Given the description of an element on the screen output the (x, y) to click on. 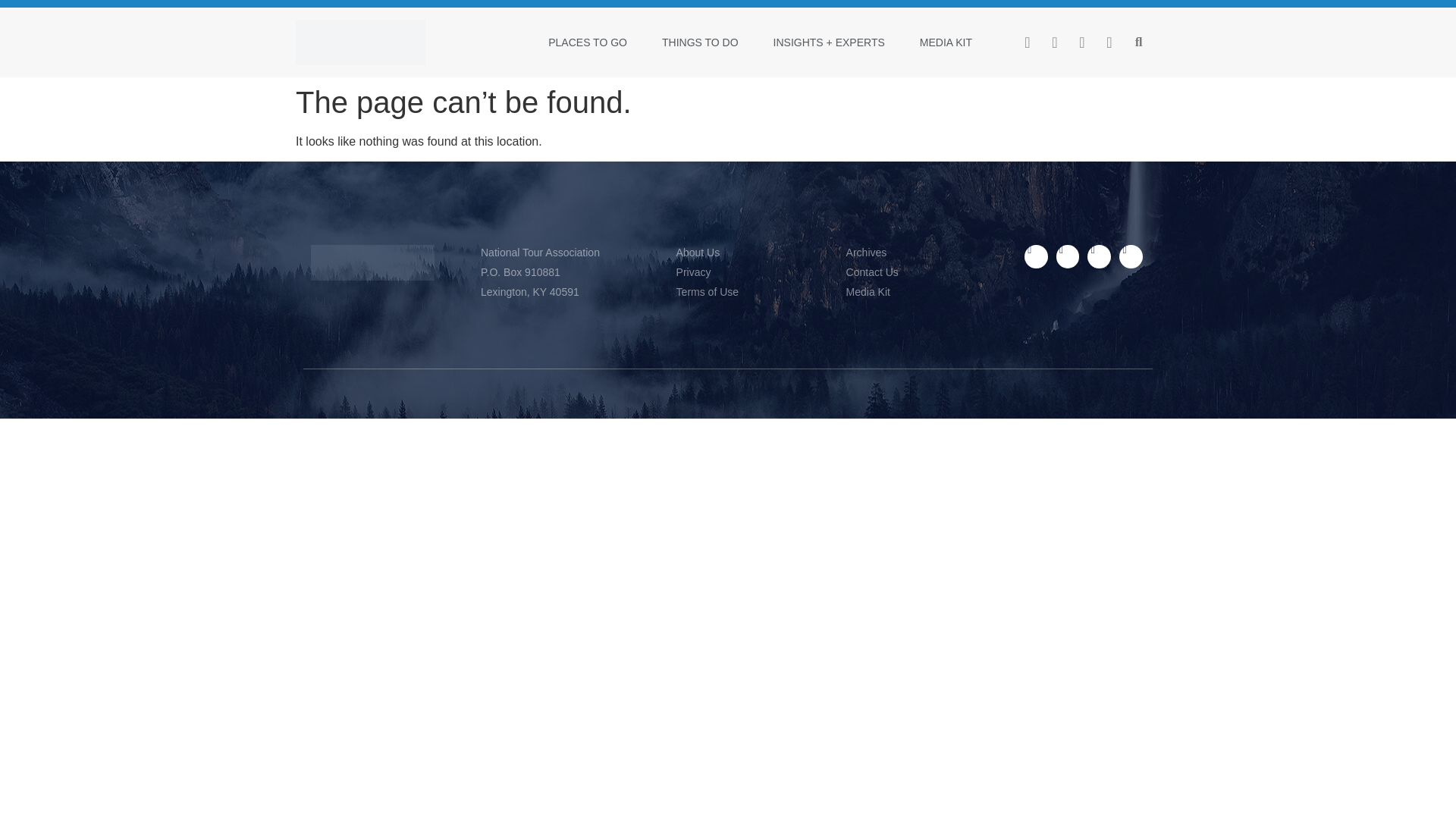
About Us (754, 252)
Archives (927, 252)
MEDIA KIT (945, 41)
Privacy (754, 272)
Terms of Use (754, 292)
PLACES TO GO (587, 41)
THINGS TO DO (700, 41)
